Given the description of an element on the screen output the (x, y) to click on. 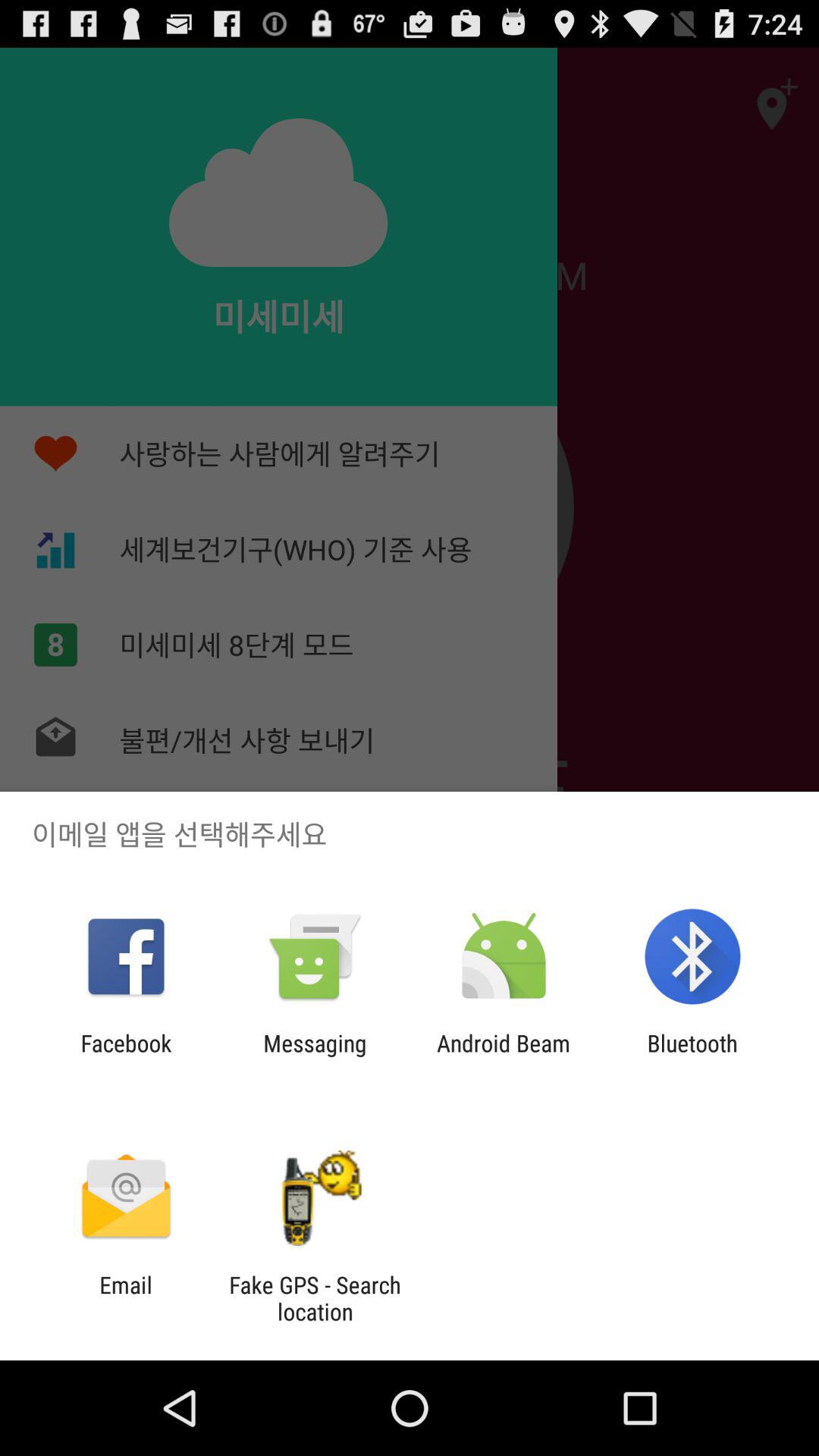
open bluetooth (692, 1056)
